Given the description of an element on the screen output the (x, y) to click on. 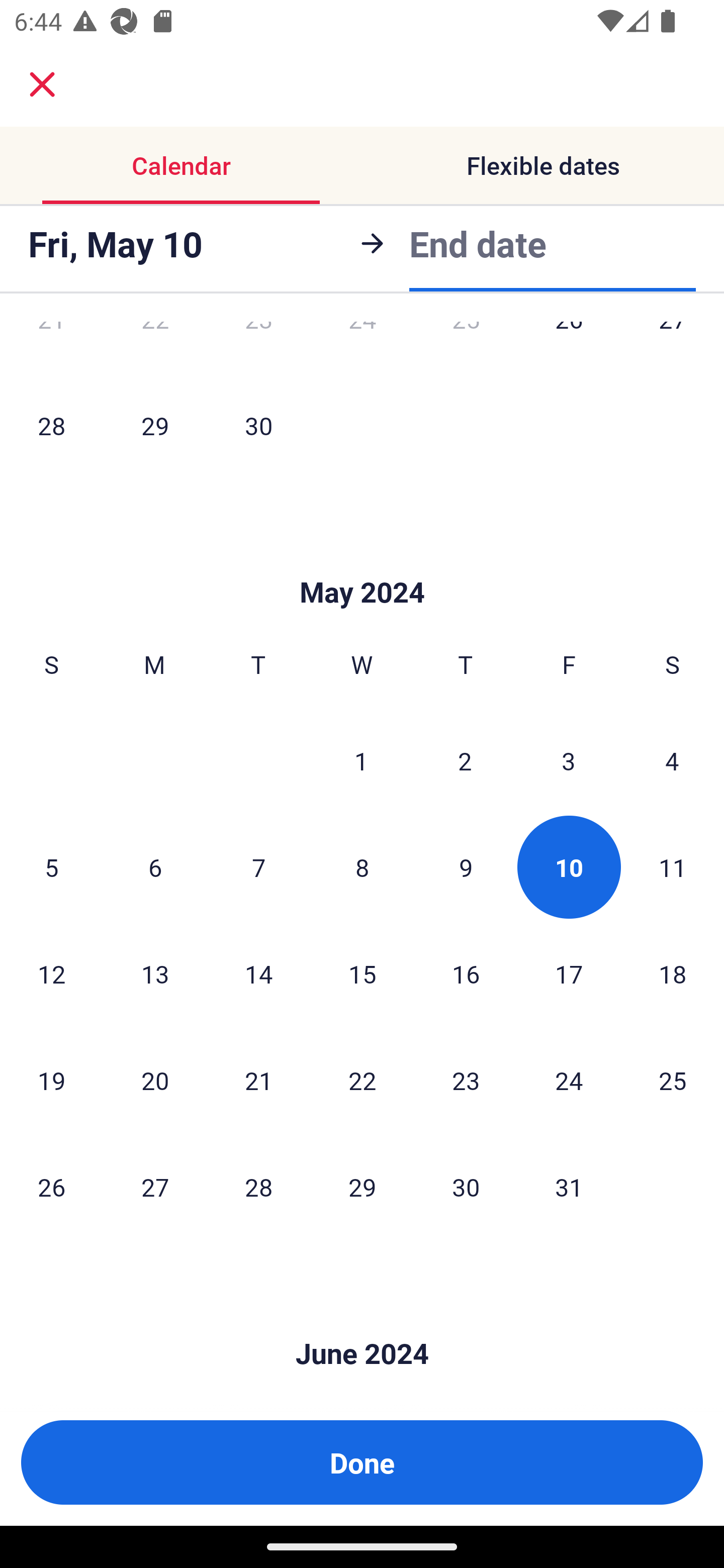
close. (42, 84)
Flexible dates (542, 164)
End date (477, 240)
28 Sunday, April 28, 2024 (51, 424)
29 Monday, April 29, 2024 (155, 424)
30 Tuesday, April 30, 2024 (258, 424)
Skip to Done (362, 562)
1 Wednesday, May 1, 2024 (361, 760)
2 Thursday, May 2, 2024 (464, 760)
3 Friday, May 3, 2024 (568, 760)
4 Saturday, May 4, 2024 (672, 760)
5 Sunday, May 5, 2024 (51, 866)
6 Monday, May 6, 2024 (155, 866)
7 Tuesday, May 7, 2024 (258, 866)
8 Wednesday, May 8, 2024 (362, 866)
9 Thursday, May 9, 2024 (465, 866)
11 Saturday, May 11, 2024 (672, 866)
12 Sunday, May 12, 2024 (51, 973)
13 Monday, May 13, 2024 (155, 973)
14 Tuesday, May 14, 2024 (258, 973)
15 Wednesday, May 15, 2024 (362, 973)
16 Thursday, May 16, 2024 (465, 973)
17 Friday, May 17, 2024 (569, 973)
18 Saturday, May 18, 2024 (672, 973)
19 Sunday, May 19, 2024 (51, 1080)
20 Monday, May 20, 2024 (155, 1080)
21 Tuesday, May 21, 2024 (258, 1080)
22 Wednesday, May 22, 2024 (362, 1080)
23 Thursday, May 23, 2024 (465, 1080)
24 Friday, May 24, 2024 (569, 1080)
25 Saturday, May 25, 2024 (672, 1080)
26 Sunday, May 26, 2024 (51, 1186)
27 Monday, May 27, 2024 (155, 1186)
28 Tuesday, May 28, 2024 (258, 1186)
29 Wednesday, May 29, 2024 (362, 1186)
30 Thursday, May 30, 2024 (465, 1186)
31 Friday, May 31, 2024 (569, 1186)
Skip to Done (362, 1323)
Done (361, 1462)
